Given the description of an element on the screen output the (x, y) to click on. 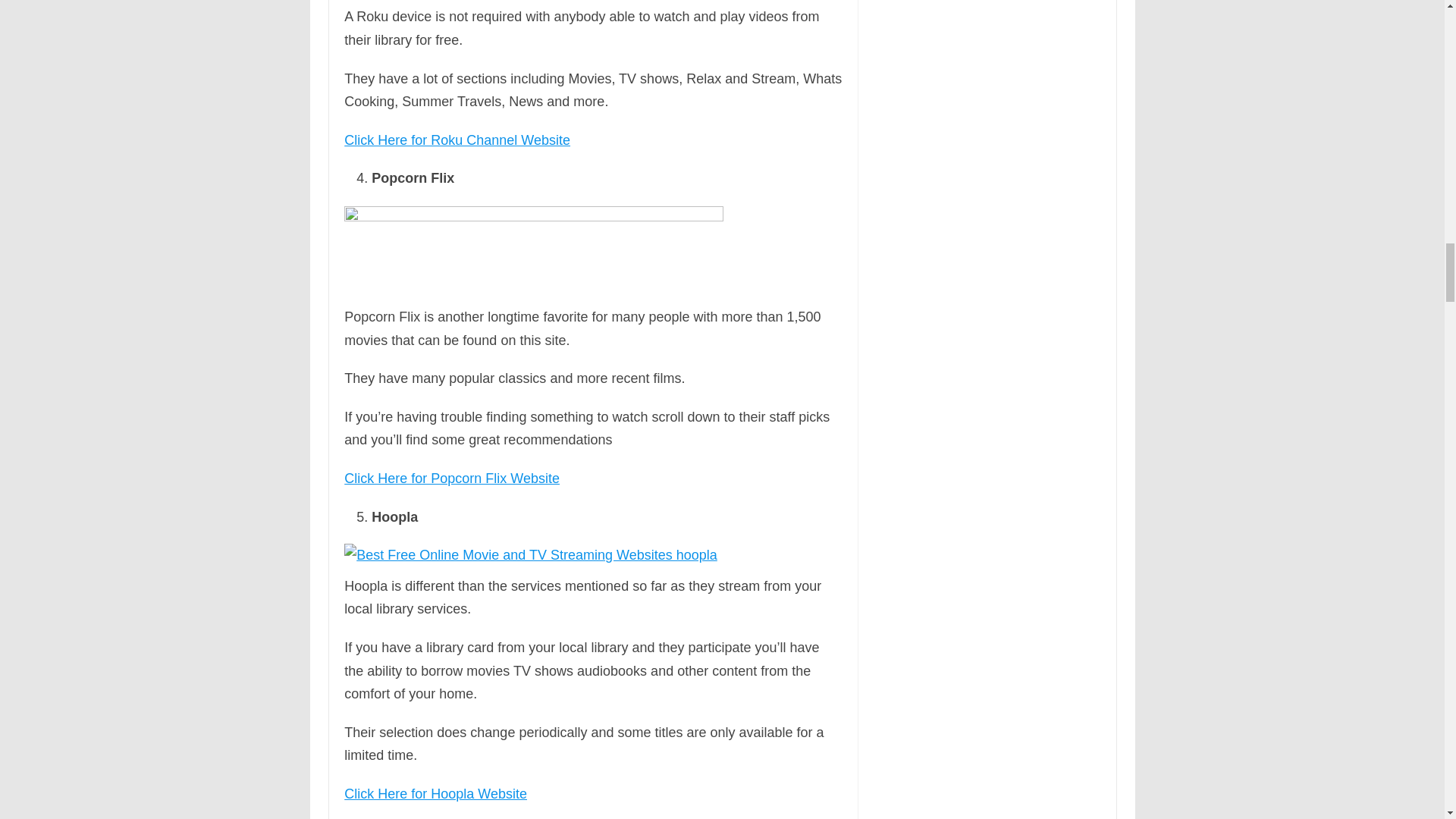
Click Here for Roku Channel Website (456, 140)
Click Here for Hoopla Website (435, 793)
Click Here for Popcorn Flix Website (451, 478)
